Given the description of an element on the screen output the (x, y) to click on. 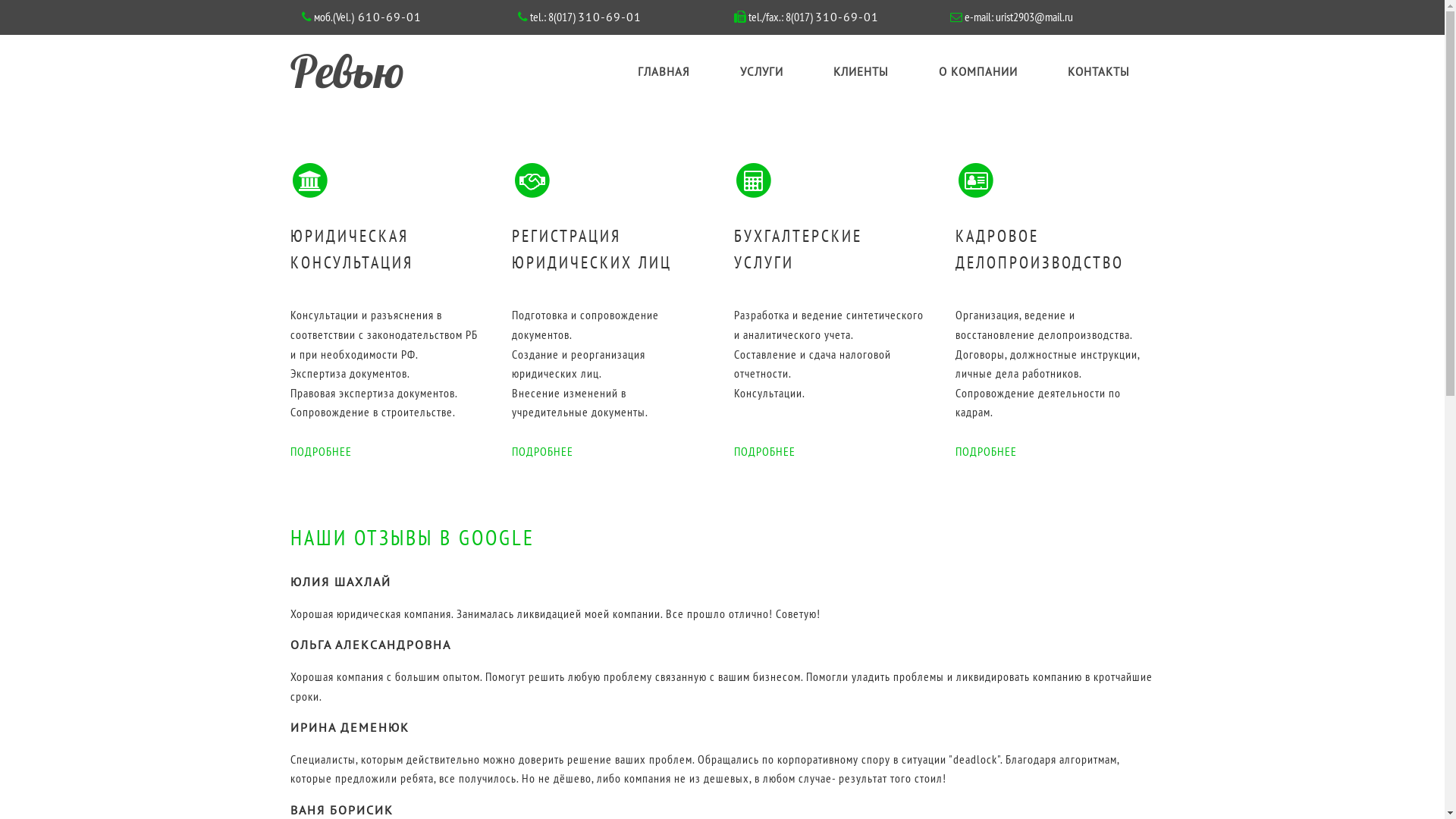
310-69-01 Element type: text (846, 16)
610-69-01 Element type: text (386, 16)
310-69-01 Element type: text (609, 16)
